Given the description of an element on the screen output the (x, y) to click on. 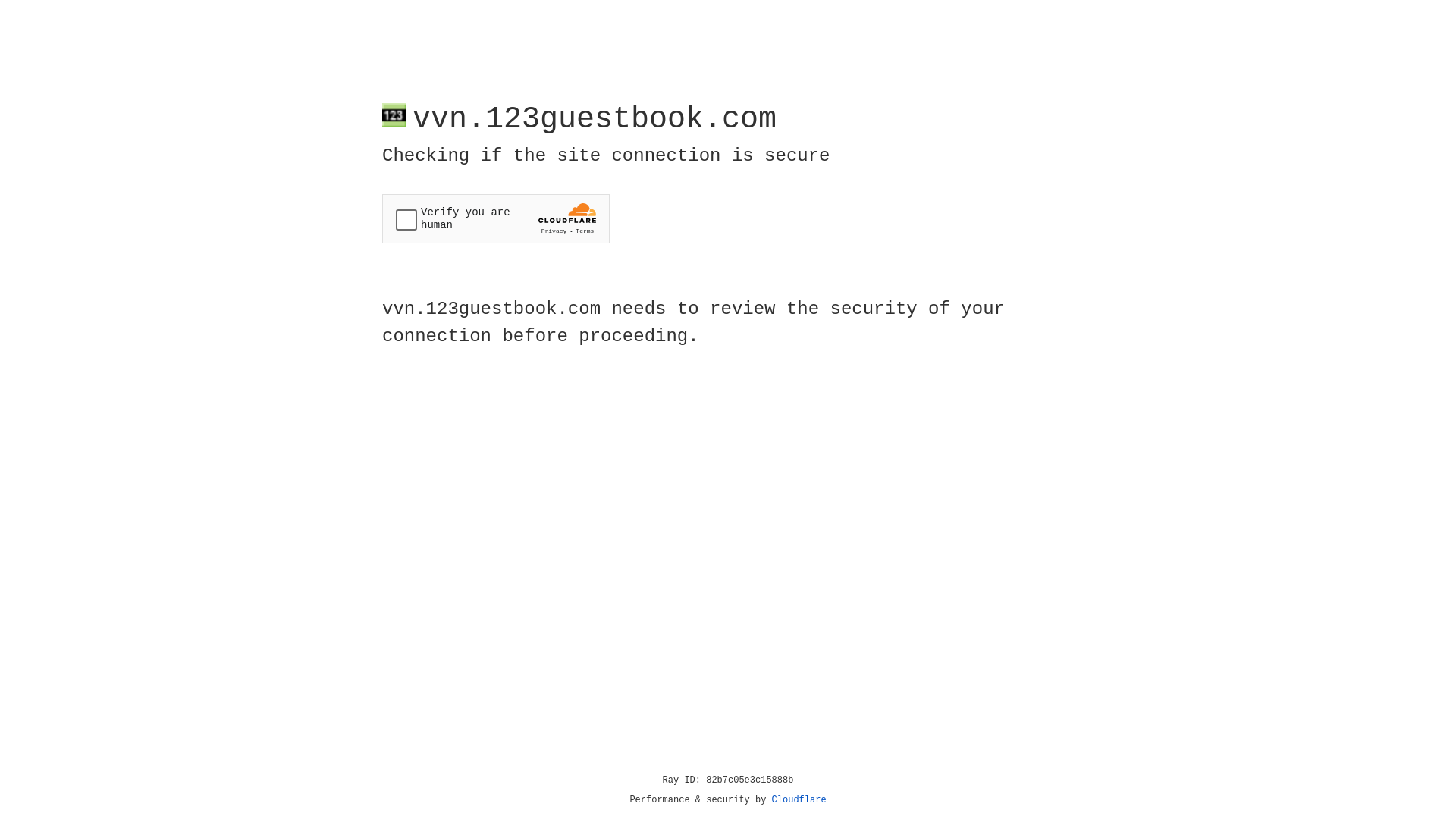
Widget containing a Cloudflare security challenge Element type: hover (495, 218)
Cloudflare Element type: text (798, 799)
